Given the description of an element on the screen output the (x, y) to click on. 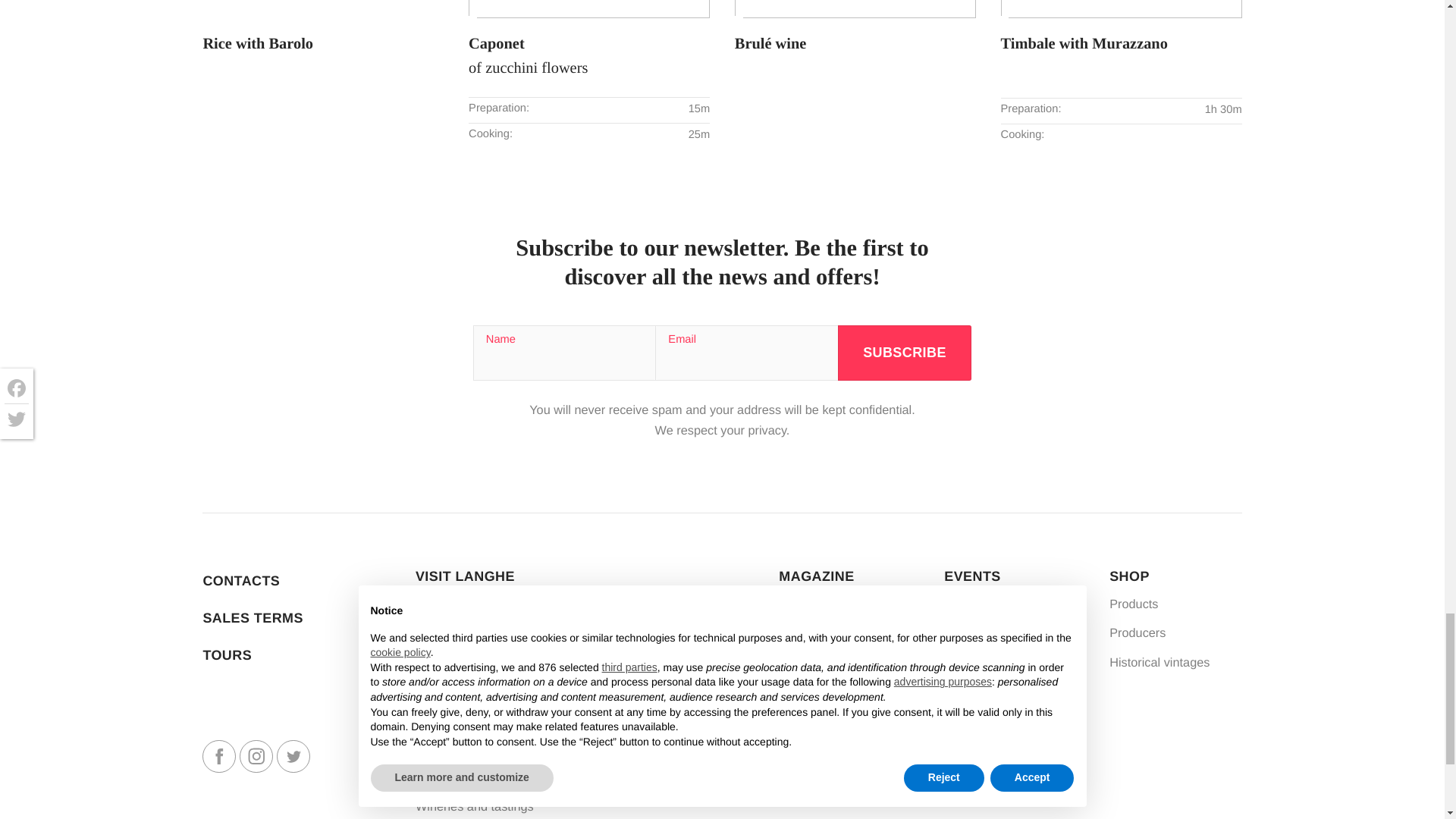
Subscribe (905, 352)
